Given the description of an element on the screen output the (x, y) to click on. 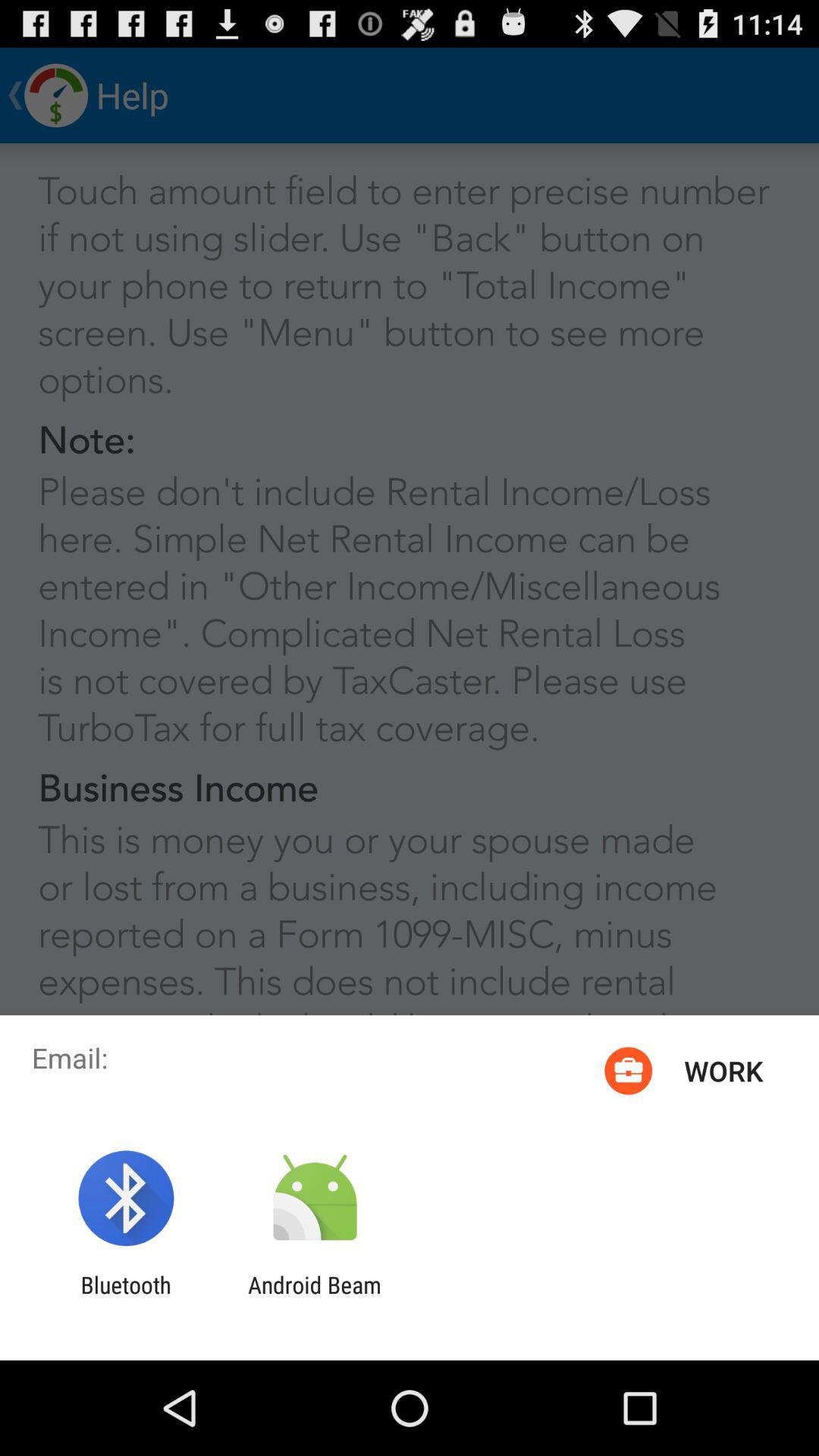
click the bluetooth item (125, 1298)
